Given the description of an element on the screen output the (x, y) to click on. 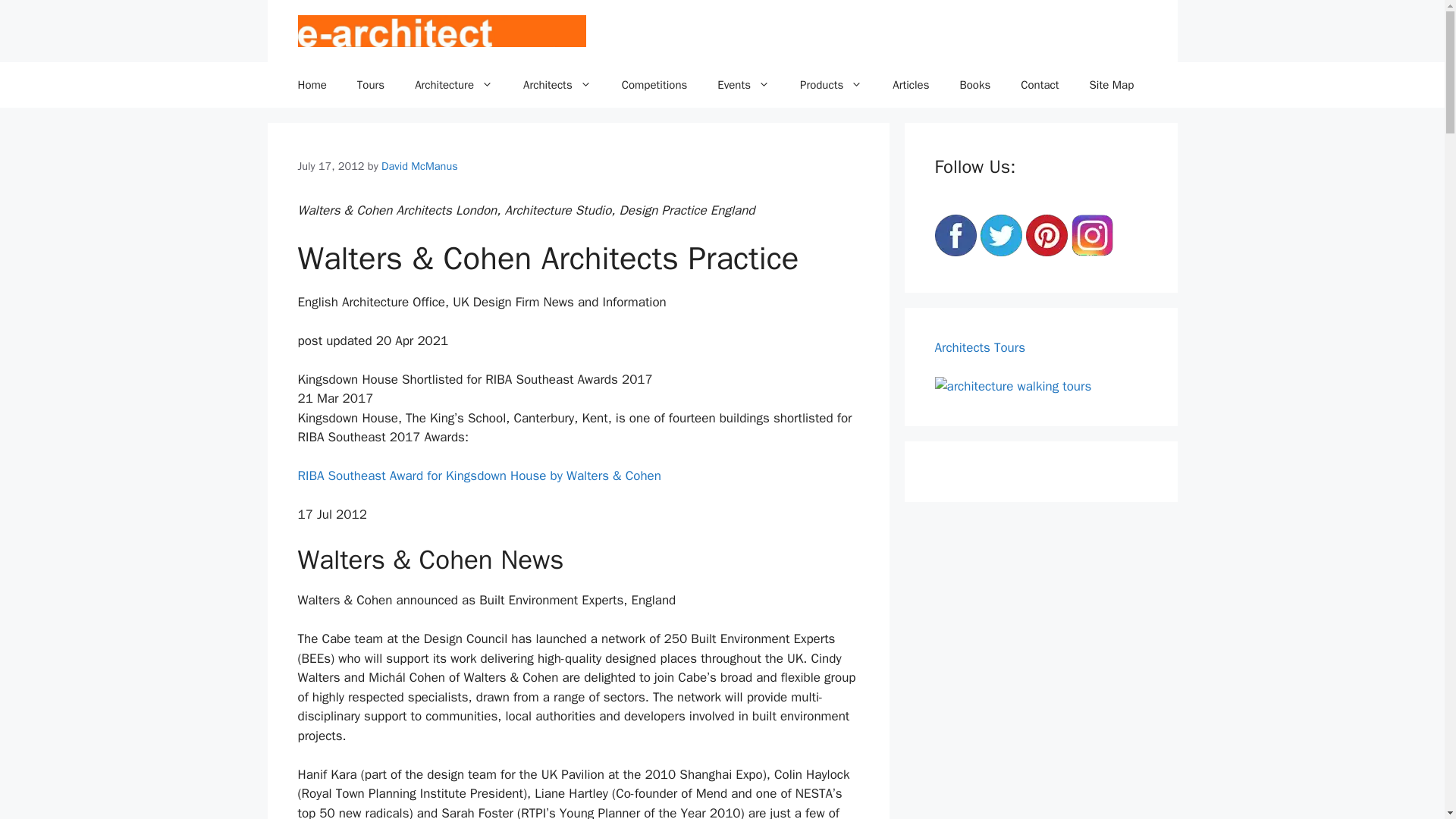
Articles (910, 84)
Architecture (453, 84)
David McManus (419, 165)
View all posts by David McManus (419, 165)
facebook (954, 235)
pinterest (1046, 235)
Books (974, 84)
Products (830, 84)
Site Map (1112, 84)
Home (311, 84)
